Given the description of an element on the screen output the (x, y) to click on. 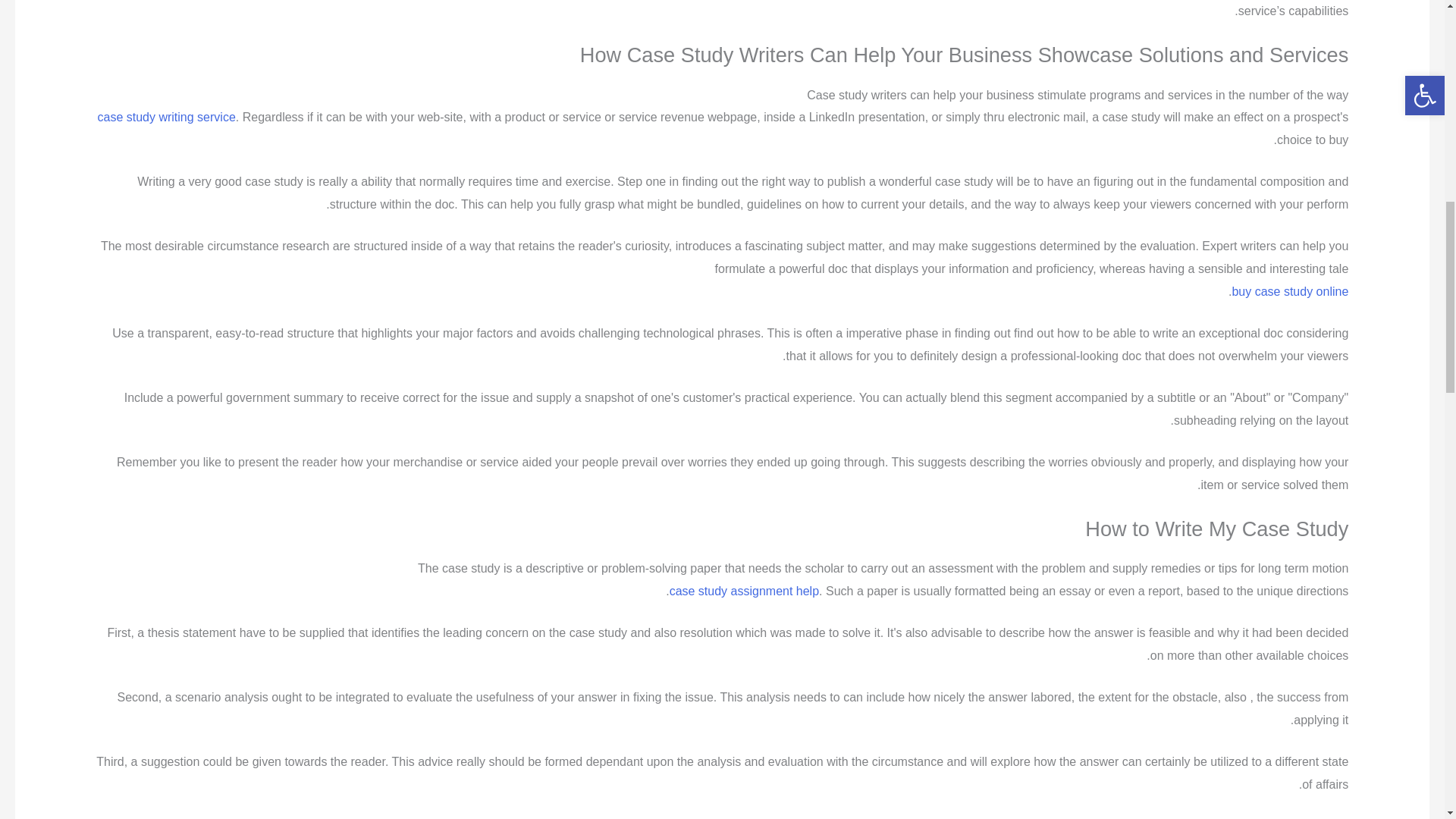
buy case study online (1289, 291)
case study assignment help (743, 590)
case study writing service (165, 116)
